Given the description of an element on the screen output the (x, y) to click on. 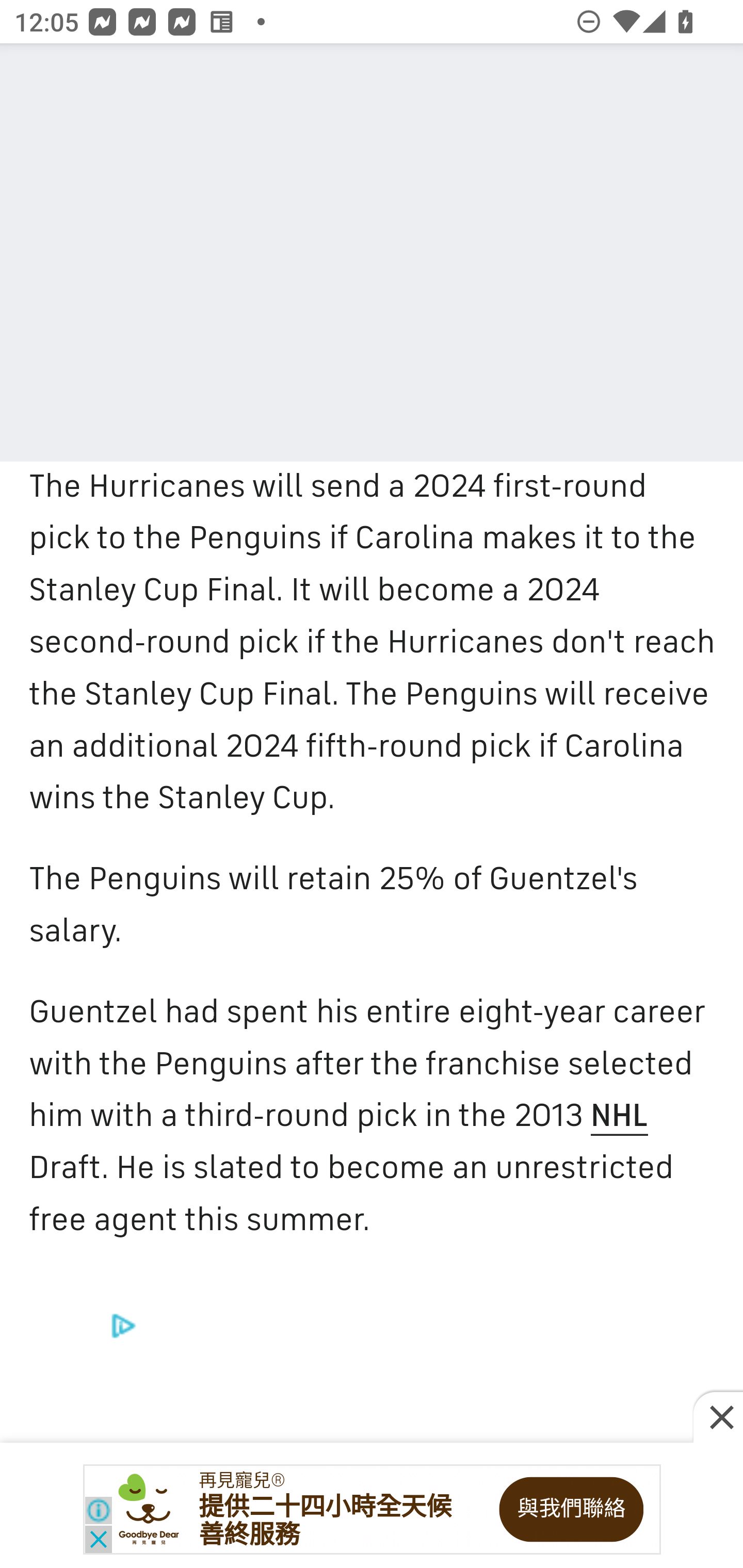
NHL (617, 1116)
Close this ad (718, 1418)
